Given the description of an element on the screen output the (x, y) to click on. 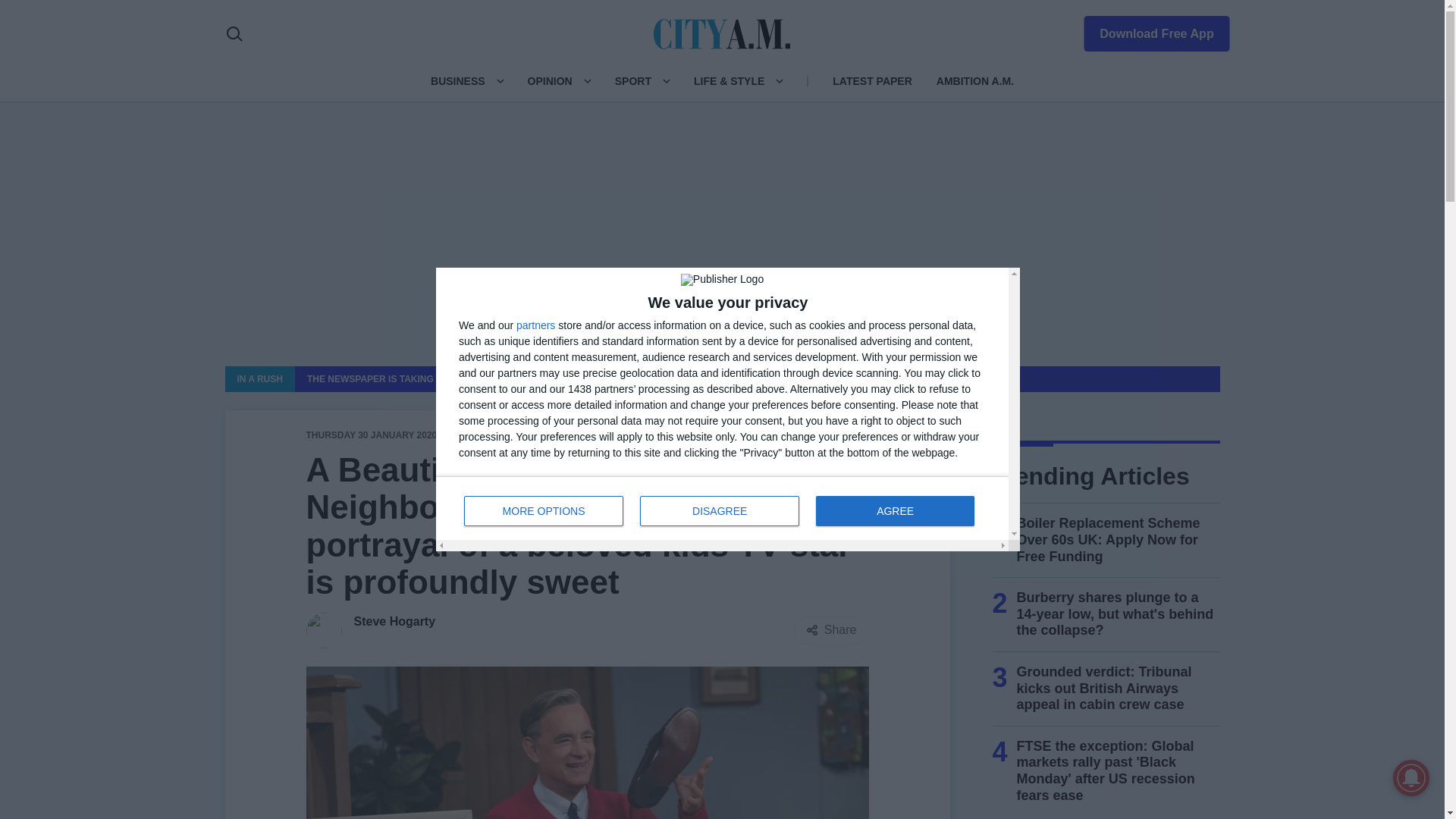
OPINION (549, 80)
DISAGREE (719, 511)
partners (535, 325)
MORE OPTIONS (543, 511)
BUSINESS (457, 80)
SPORT (632, 80)
Download Free App (1146, 30)
AGREE (894, 511)
CityAM (722, 507)
